Given the description of an element on the screen output the (x, y) to click on. 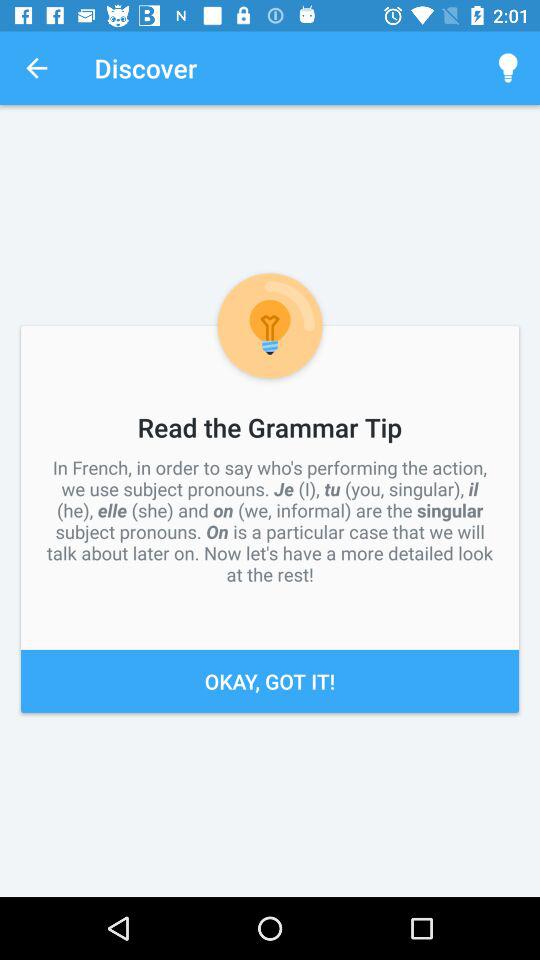
tap item next to discover item (36, 68)
